Given the description of an element on the screen output the (x, y) to click on. 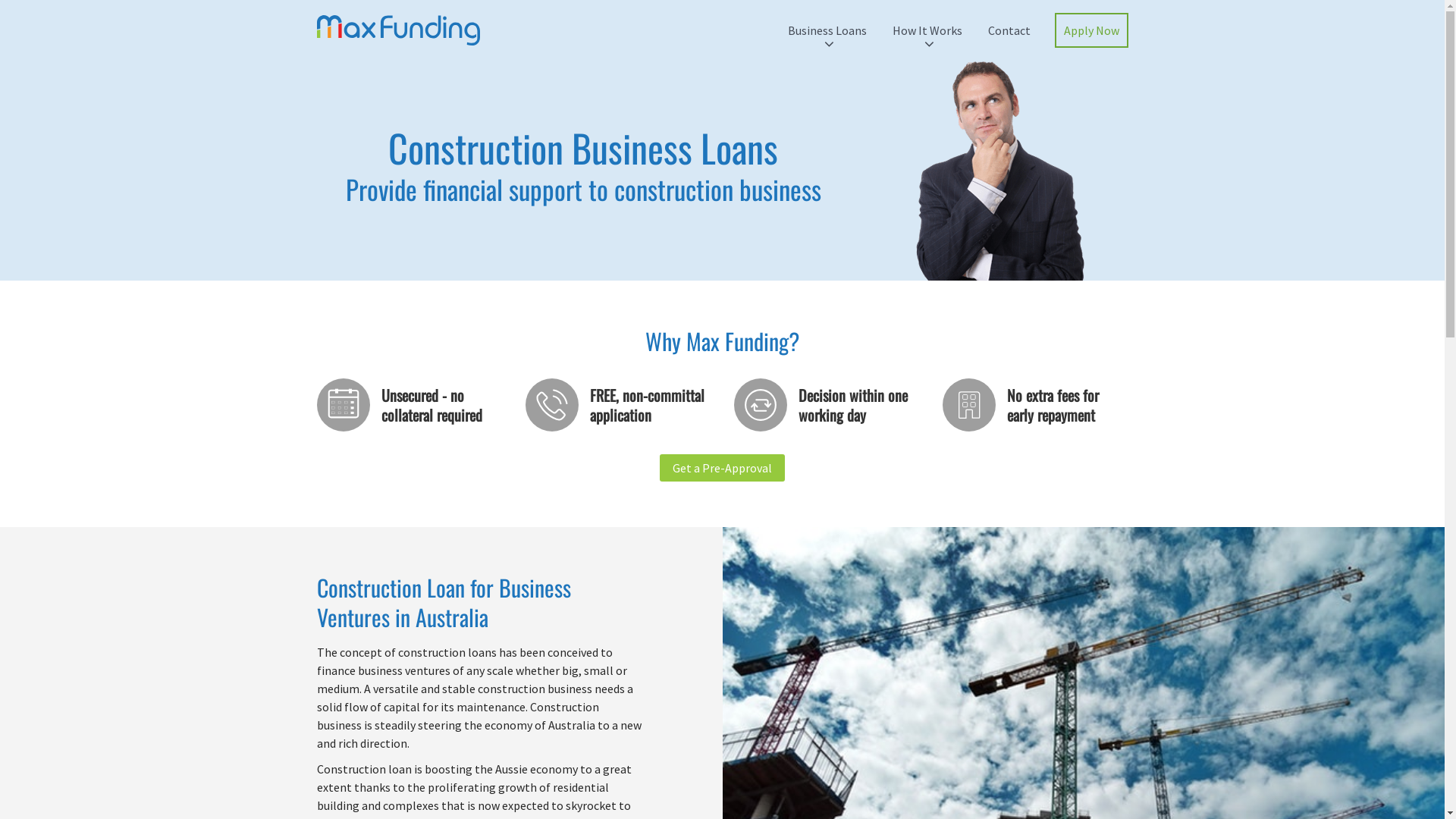
Get a Pre-Approval Element type: text (721, 467)
Apply Now Element type: text (1090, 29)
How It Works Element type: text (927, 30)
Contact Element type: text (1009, 30)
Business Loans Element type: text (827, 30)
